Given the description of an element on the screen output the (x, y) to click on. 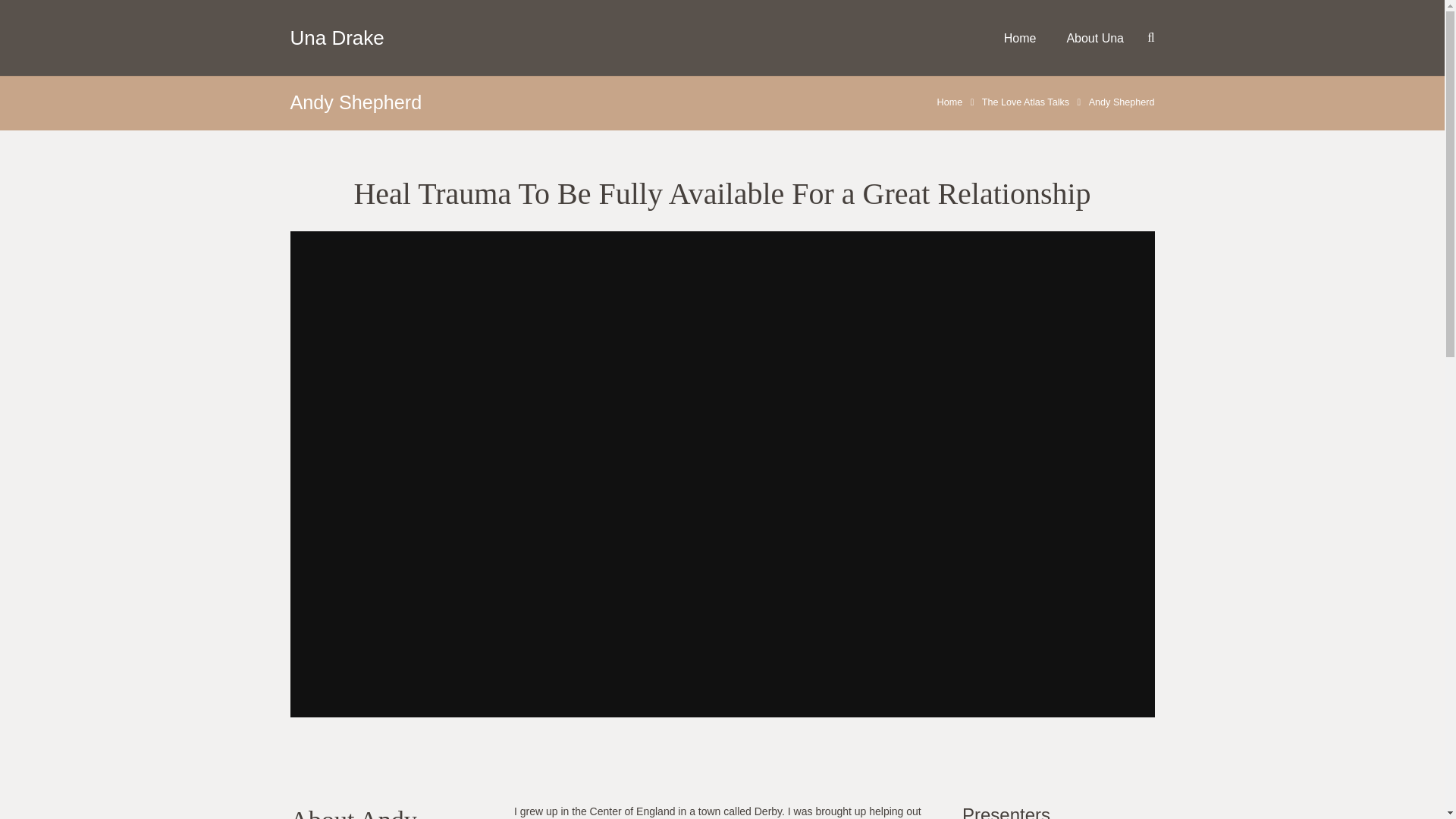
Una Drake (336, 36)
Home (949, 102)
About Una (1094, 37)
Home (1019, 37)
The Love Atlas Talks (1024, 102)
